Given the description of an element on the screen output the (x, y) to click on. 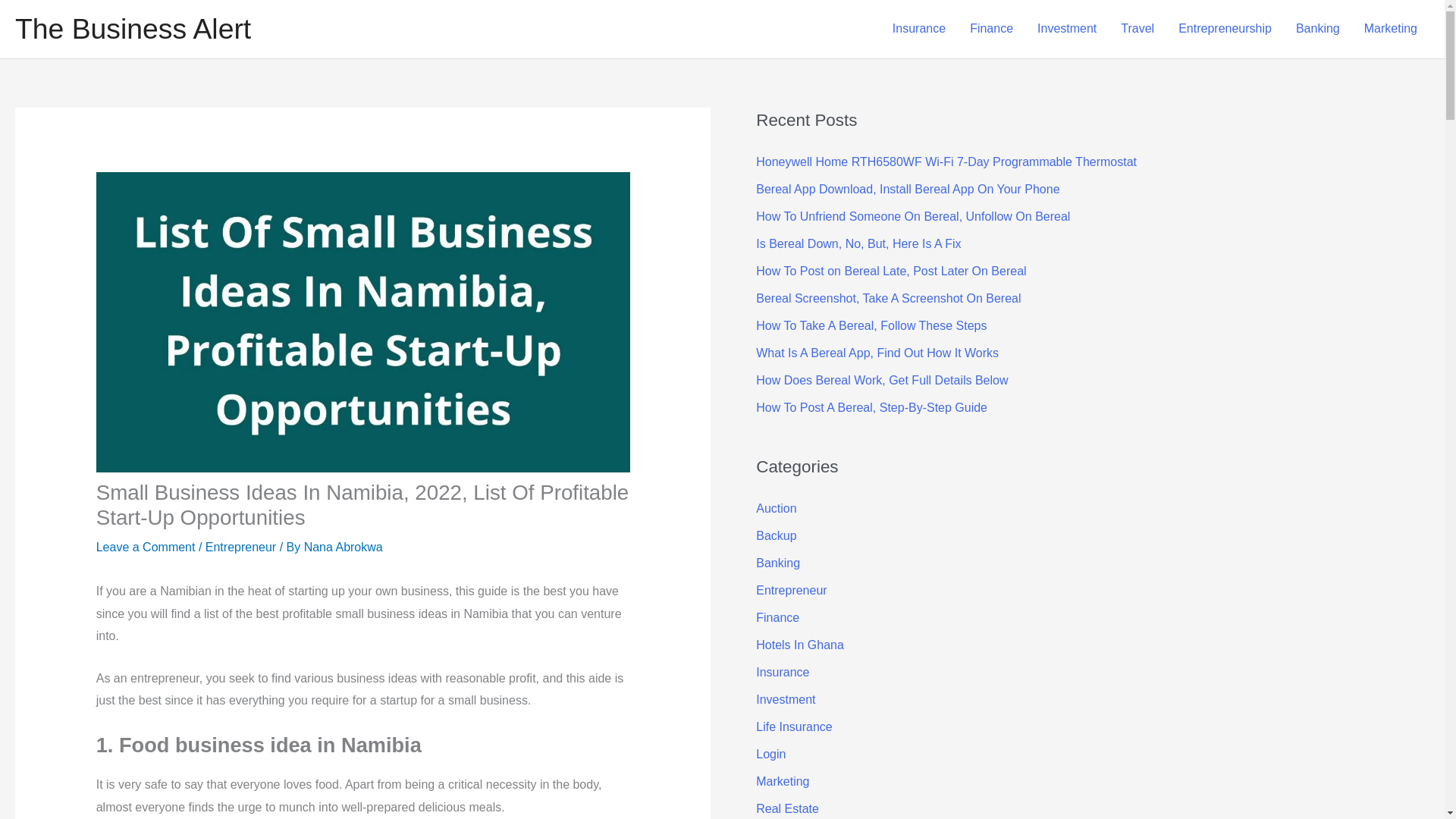
Marketing (1390, 28)
Entrepreneurship (1225, 28)
Investment (1066, 28)
The Business Alert (132, 29)
Insurance (919, 28)
Travel (1137, 28)
Banking (1318, 28)
Leave a Comment (145, 546)
View all posts by Nana Abrokwa (343, 546)
Finance (991, 28)
